Given the description of an element on the screen output the (x, y) to click on. 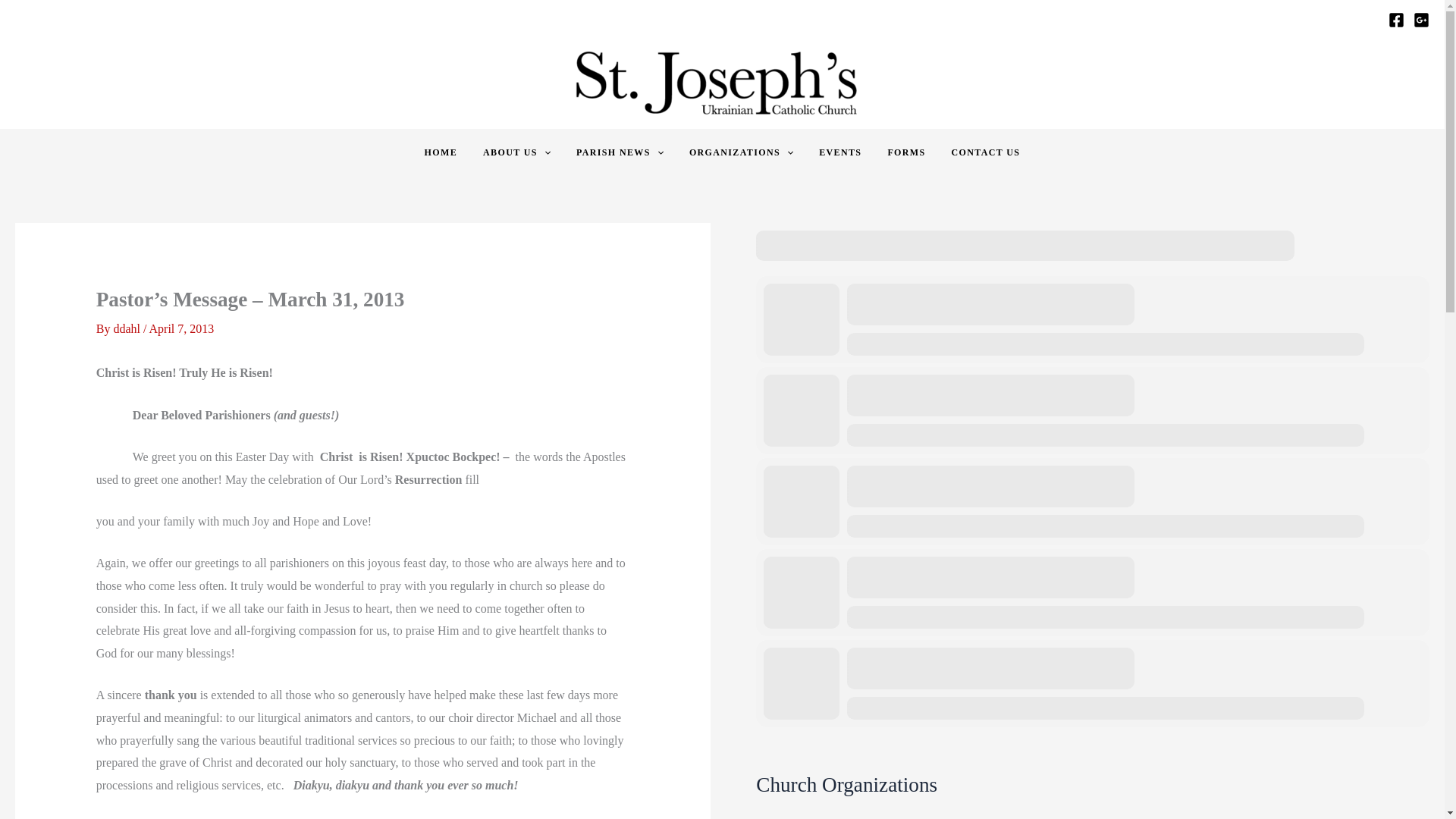
ORGANIZATIONS (741, 152)
HOME (441, 152)
View all posts by ddahl (127, 328)
CONTACT US (986, 152)
EVENTS (840, 152)
FORMS (906, 152)
ABOUT US (516, 152)
PARISH NEWS (620, 152)
